Given the description of an element on the screen output the (x, y) to click on. 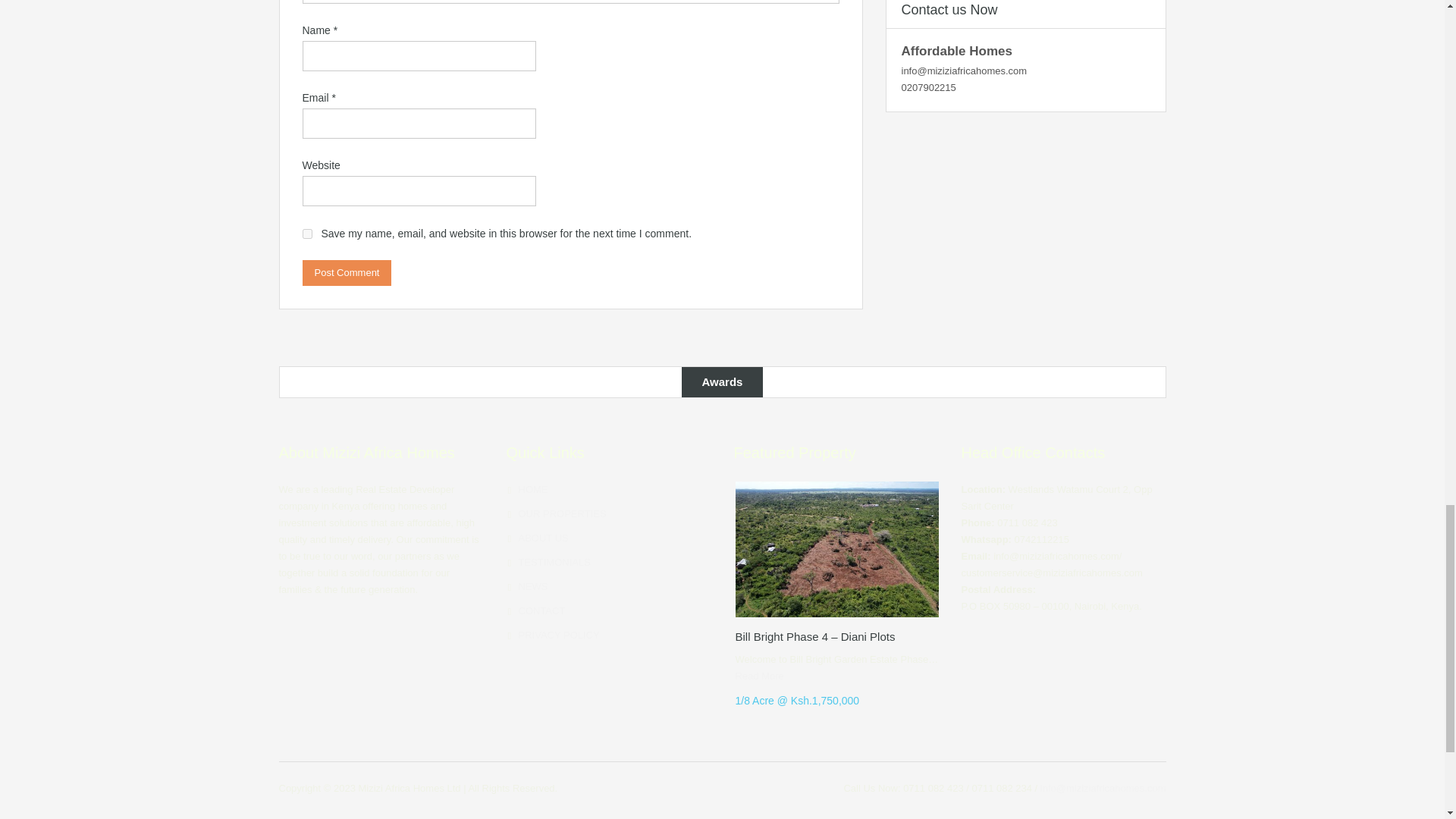
yes (306, 234)
Post Comment (346, 272)
Post Comment (346, 272)
